Given the description of an element on the screen output the (x, y) to click on. 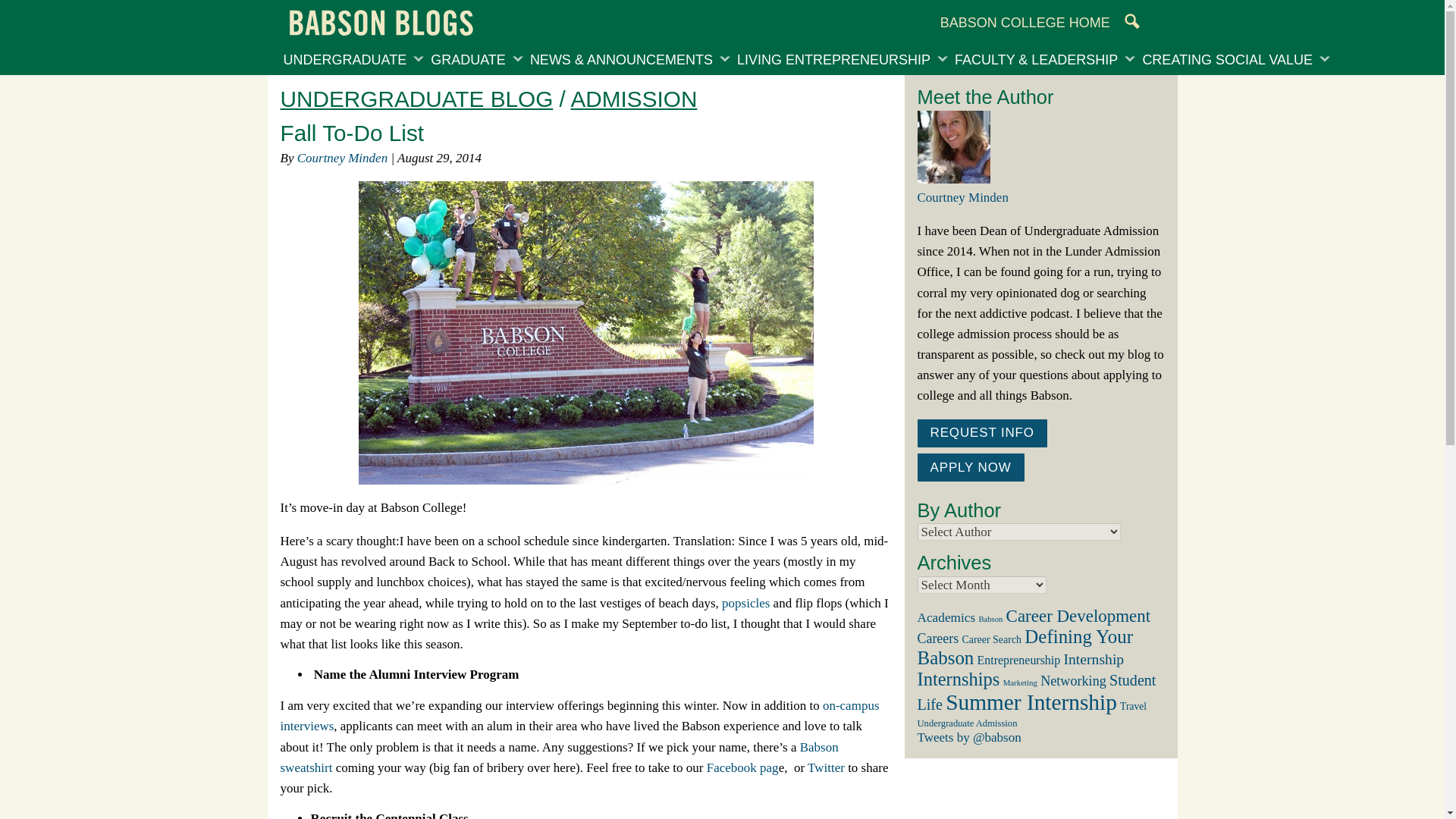
Tours, Essays and Popsicles (744, 603)
GRADUATE (467, 60)
CREATING SOCIAL VALUE (1227, 60)
Visit babson.com (1024, 22)
UNDERGRADUATE (344, 60)
Posts by Courtney Minden (342, 157)
BABSON COLLEGE HOME (1024, 22)
LIVING ENTREPRENEURSHIP (833, 60)
